Given the description of an element on the screen output the (x, y) to click on. 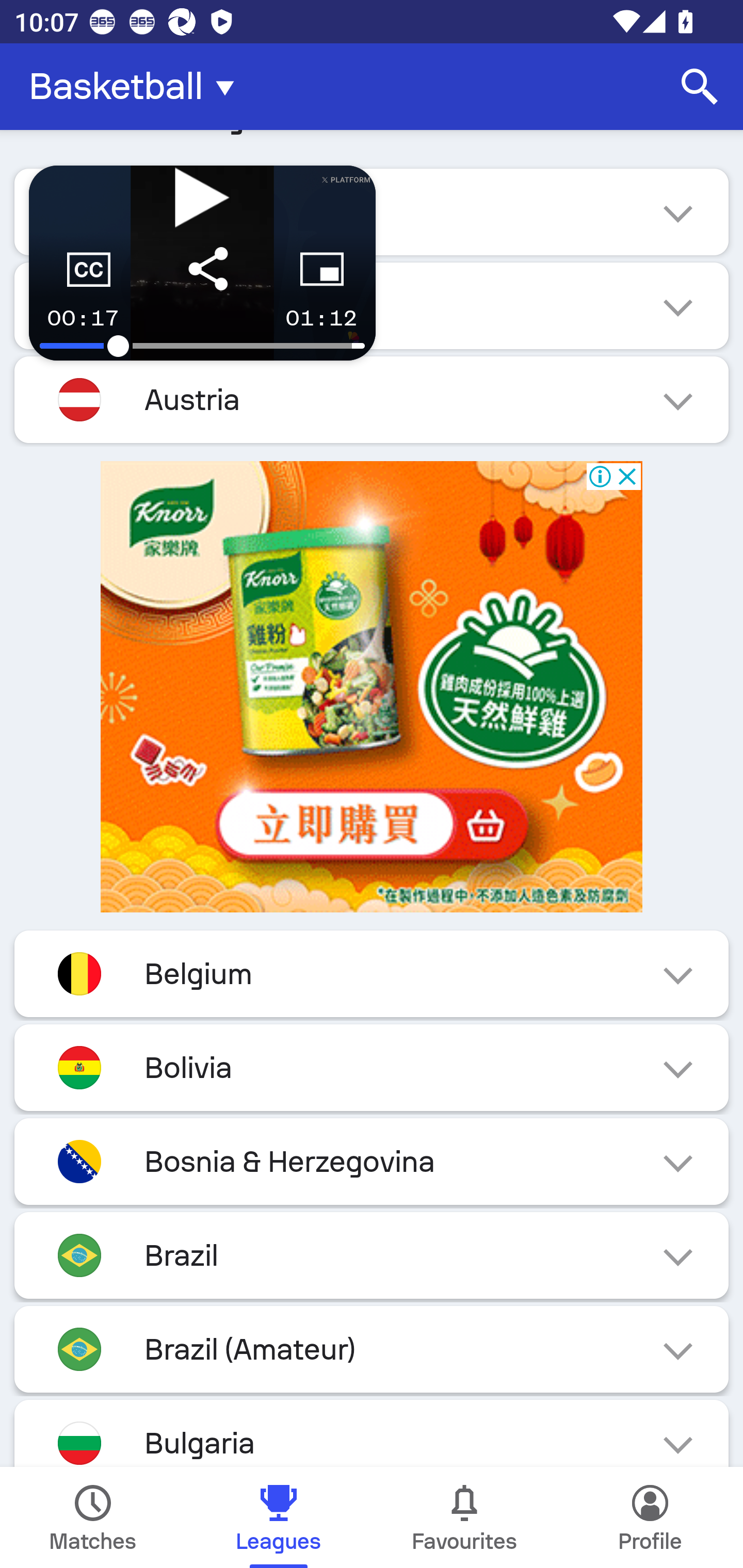
Basketball (137, 86)
Search (699, 86)
Austria (371, 399)
Advertisement (371, 686)
Belgium (371, 973)
Bolivia (371, 1067)
Bosnia & Herzegovina (371, 1160)
Brazil (371, 1255)
Brazil (Amateur) (371, 1349)
Bulgaria (371, 1433)
Matches (92, 1517)
Favourites (464, 1517)
Profile (650, 1517)
